Given the description of an element on the screen output the (x, y) to click on. 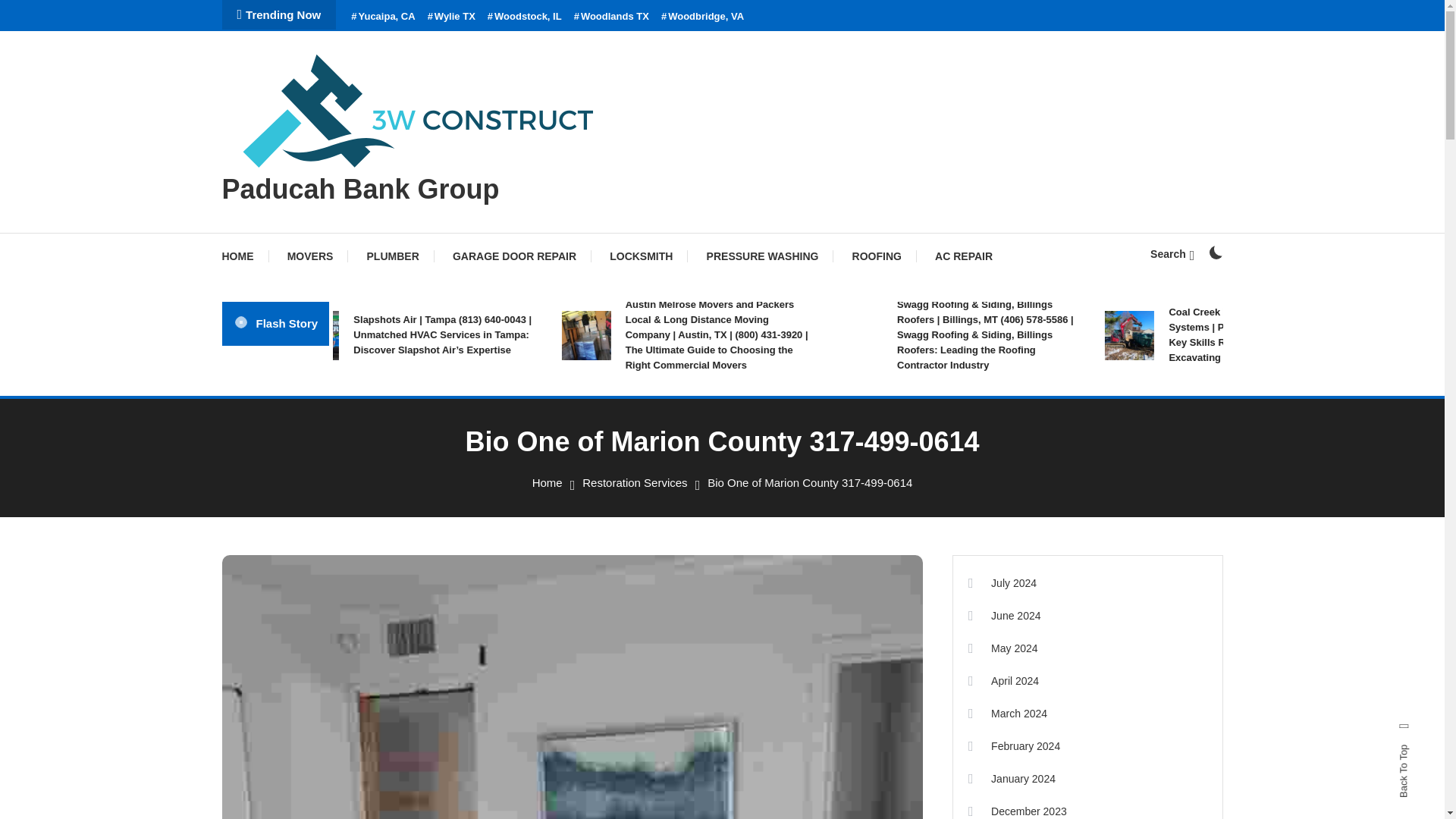
MOVERS (310, 256)
on (1215, 252)
Restoration Services (634, 481)
Woodbridge, VA (702, 16)
Wylie TX (452, 16)
Search (1171, 254)
GARAGE DOOR REPAIR (514, 256)
AC REPAIR (963, 256)
Paducah Bank Group (360, 188)
Woodlands TX (611, 16)
PLUMBER (392, 256)
Woodstock, IL (524, 16)
Search (768, 434)
PRESSURE WASHING (762, 256)
ROOFING (877, 256)
